Given the description of an element on the screen output the (x, y) to click on. 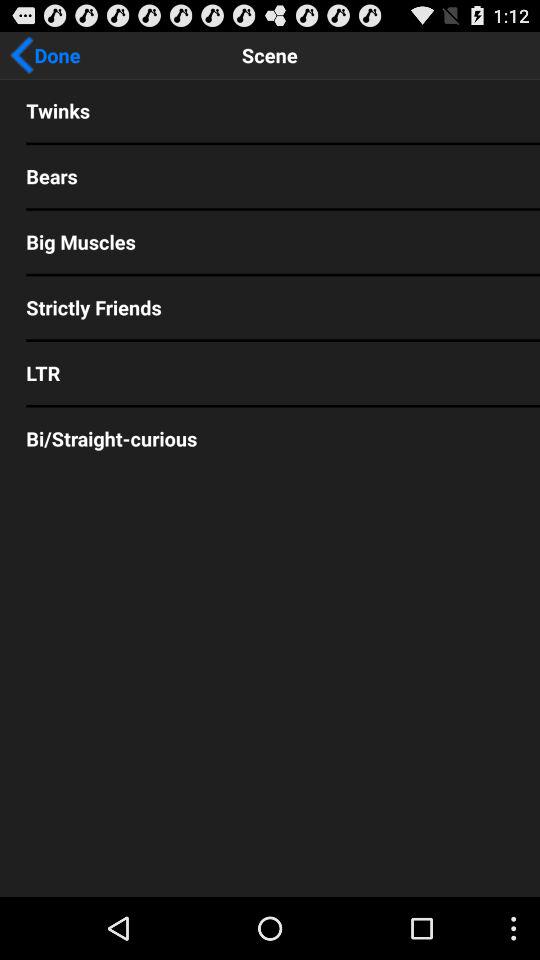
launch ltr (270, 372)
